Given the description of an element on the screen output the (x, y) to click on. 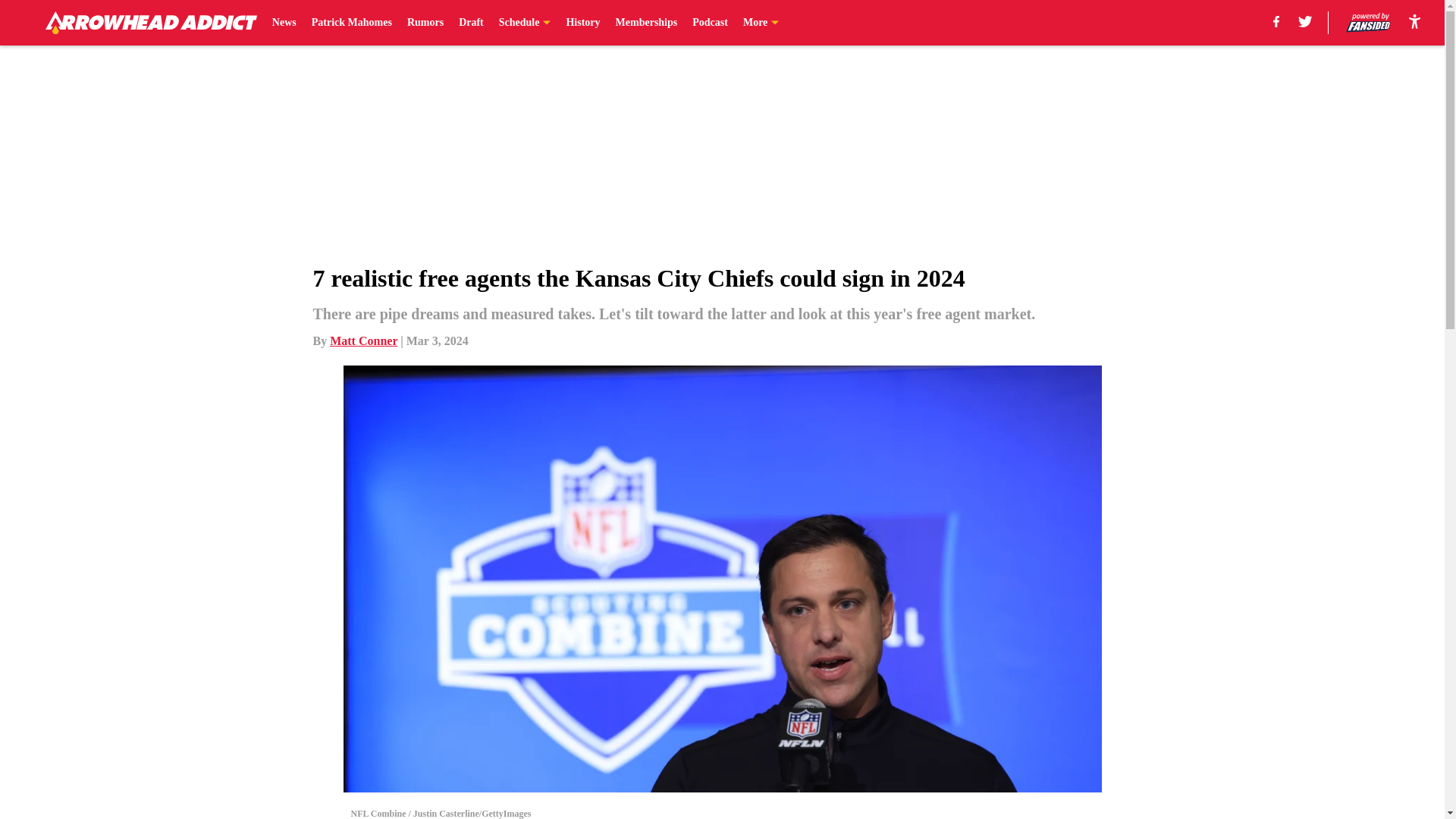
Patrick Mahomes (351, 22)
Memberships (646, 22)
Draft (470, 22)
News (284, 22)
Matt Conner (363, 340)
Podcast (710, 22)
Rumors (425, 22)
History (582, 22)
